Given the description of an element on the screen output the (x, y) to click on. 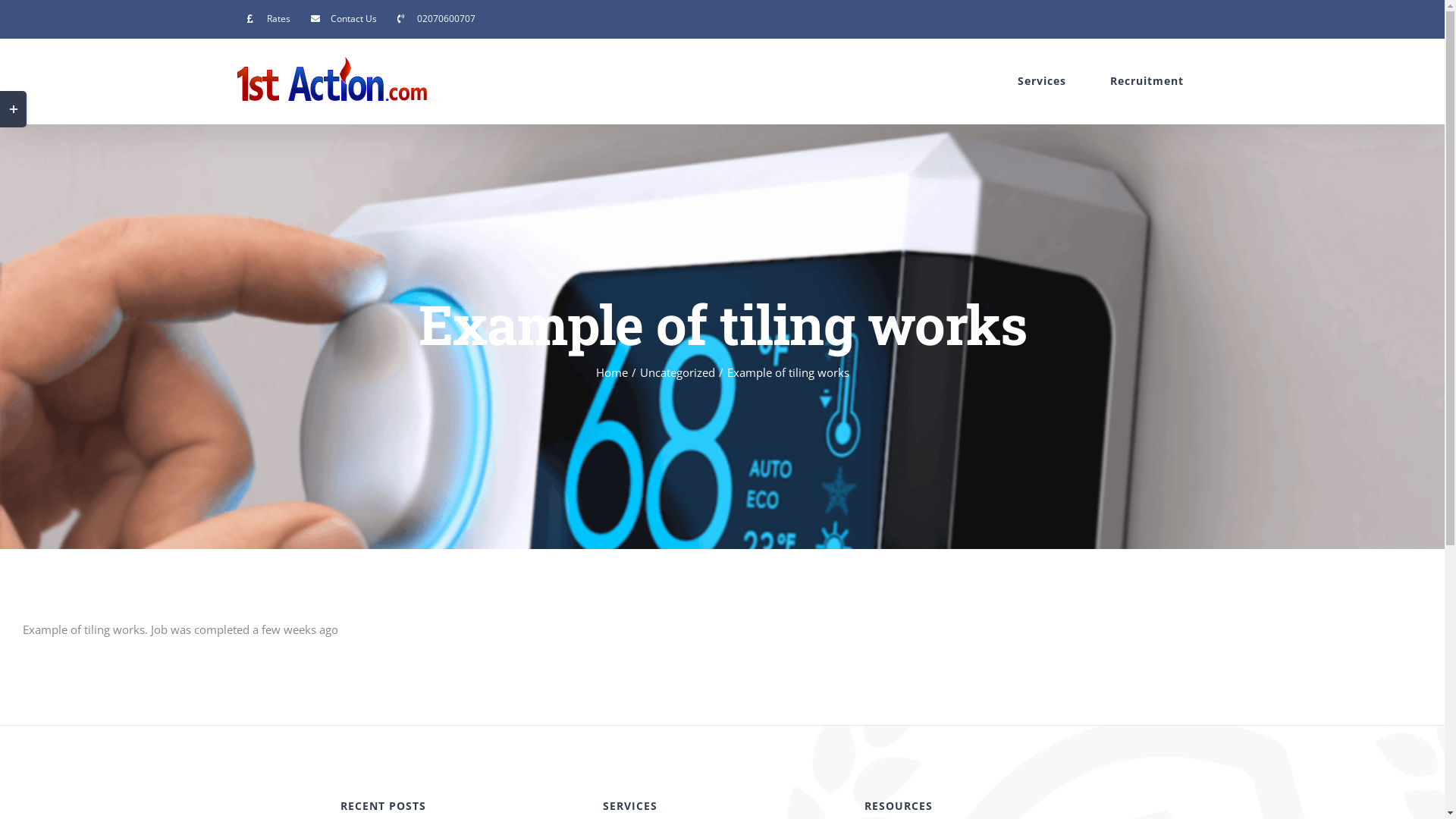
Toggle Sliding Bar Area Element type: text (13, 109)
Home Element type: text (611, 371)
Uncategorized Element type: text (677, 371)
Rates Element type: text (267, 18)
Recruitment Element type: text (1136, 80)
Contact Us Element type: text (342, 18)
02070600707 Element type: text (435, 18)
Services Element type: text (1031, 80)
